Given the description of an element on the screen output the (x, y) to click on. 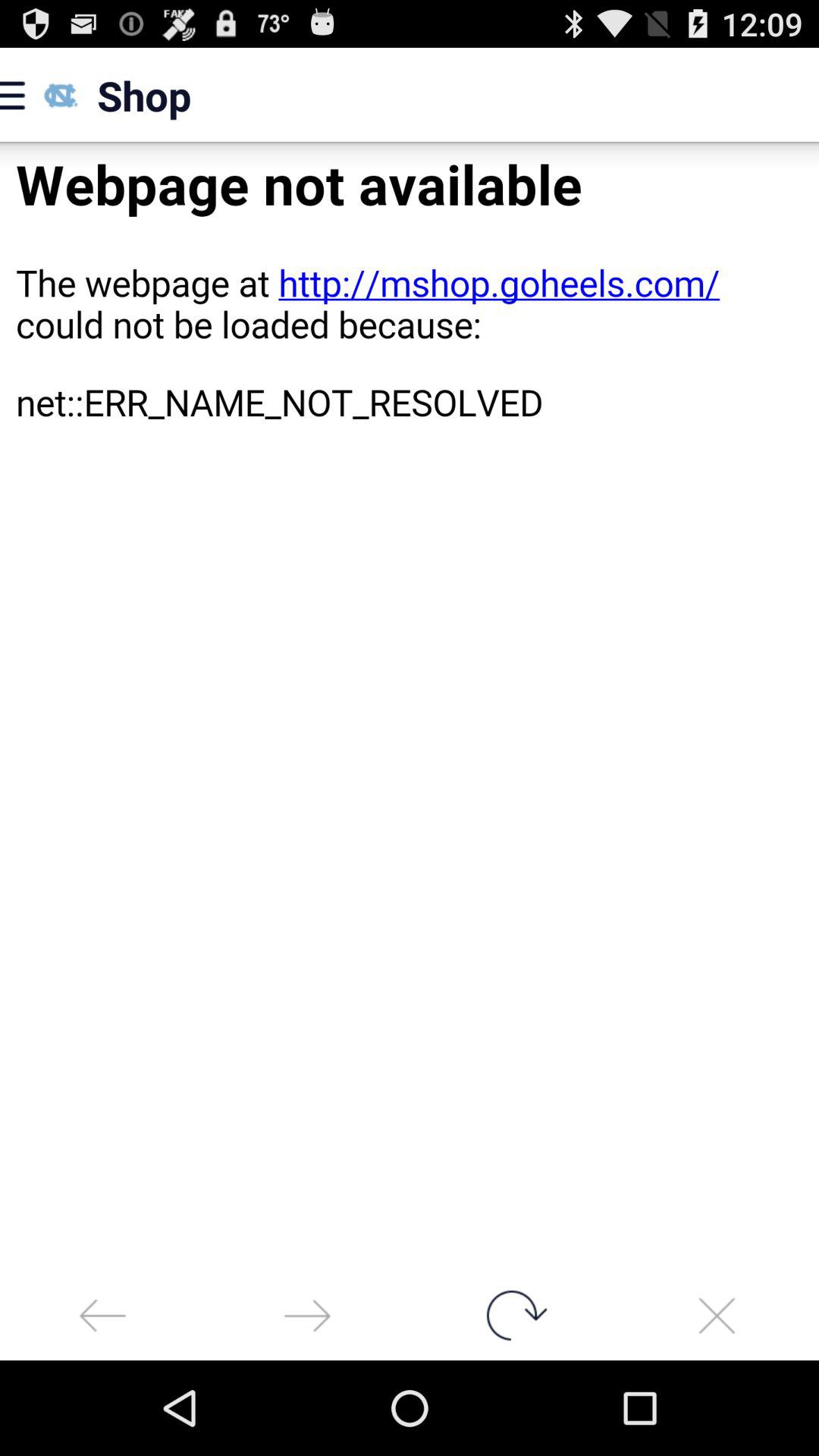
go back (102, 1315)
